Given the description of an element on the screen output the (x, y) to click on. 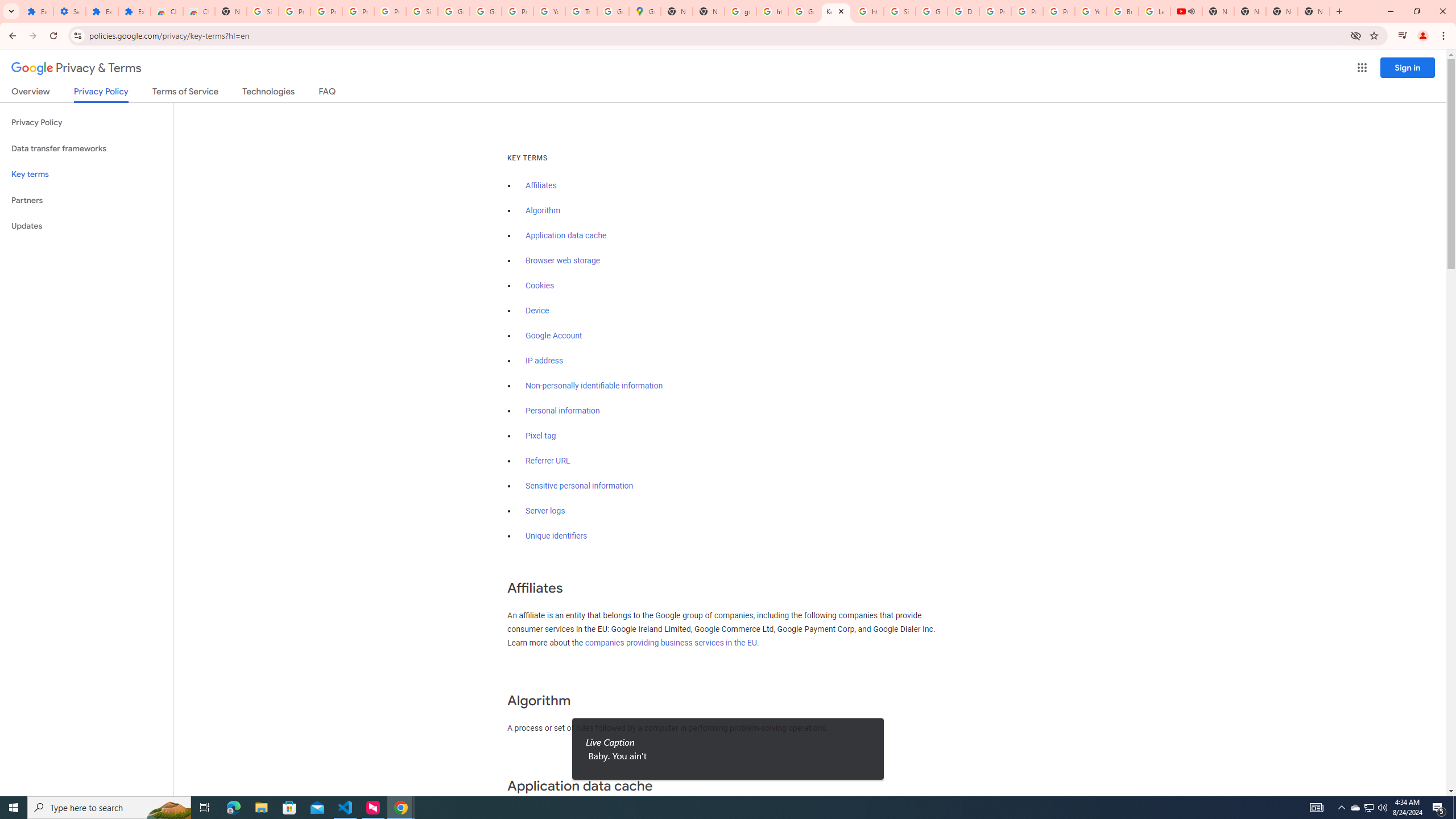
Unique identifiers (556, 536)
Affiliates (540, 185)
Sign in - Google Accounts (421, 11)
Privacy Help Center - Policies Help (1027, 11)
Personal information (562, 411)
